Given the description of an element on the screen output the (x, y) to click on. 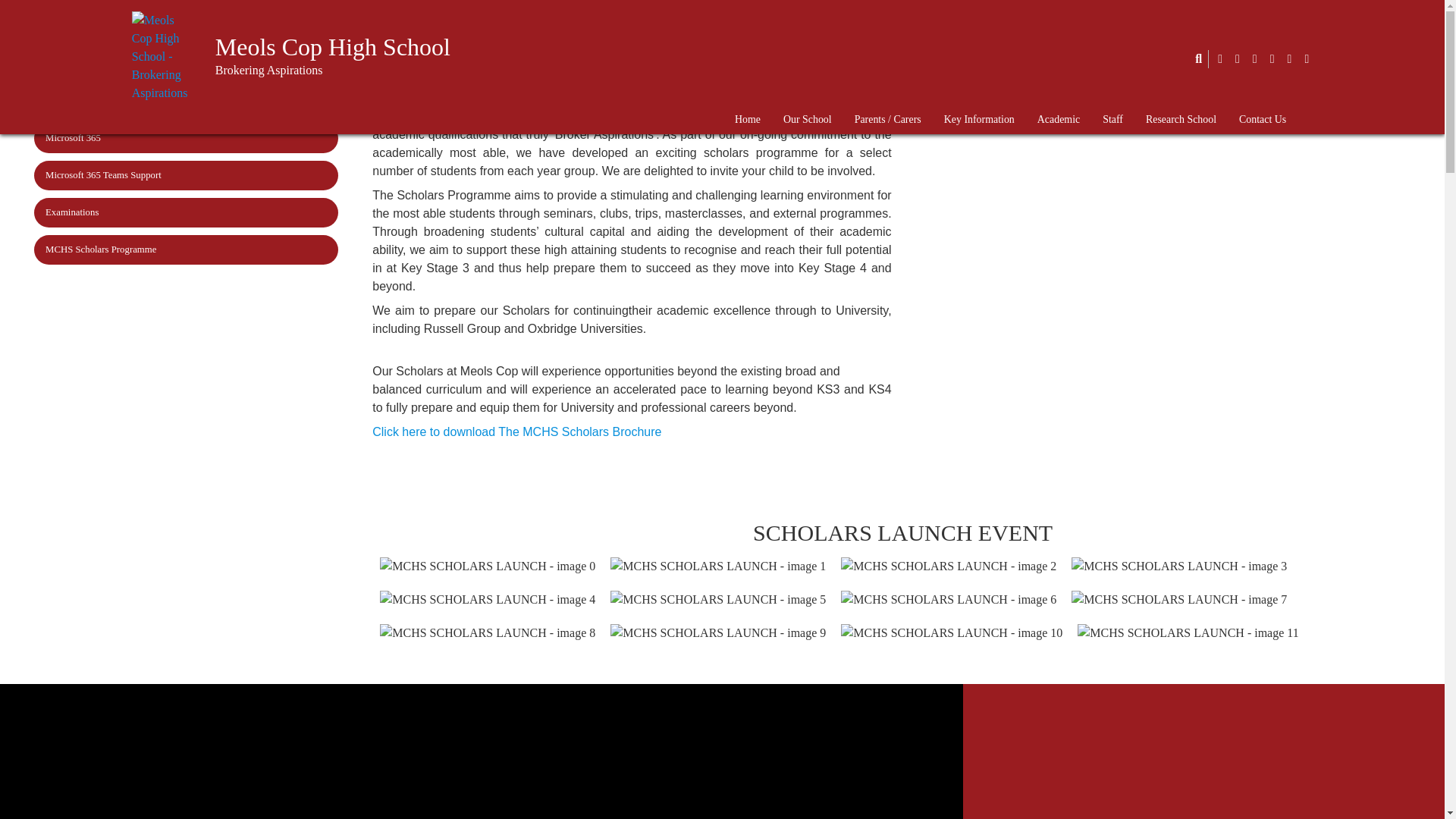
MCHS SCHOLARS LAUNCH - image 21 (949, 566)
MCHS SCHOLARS LAUNCH - image 11 (717, 566)
MCHS SCHOLARS LAUNCH - image 101 (951, 633)
Our School (808, 120)
MCHS SCHOLARS LAUNCH - image 51 (717, 599)
MCHS SCHOLARS LAUNCH - image 31 (1179, 566)
MCHS SCHOLARS LAUNCH - image 61 (949, 599)
MCHS SCHOLARS LAUNCH - image 81 (487, 633)
MCHS SCHOLARS LAUNCH - image 41 (487, 599)
MCHS SCHOLARS LAUNCH - image 71 (1179, 599)
